Given the description of an element on the screen output the (x, y) to click on. 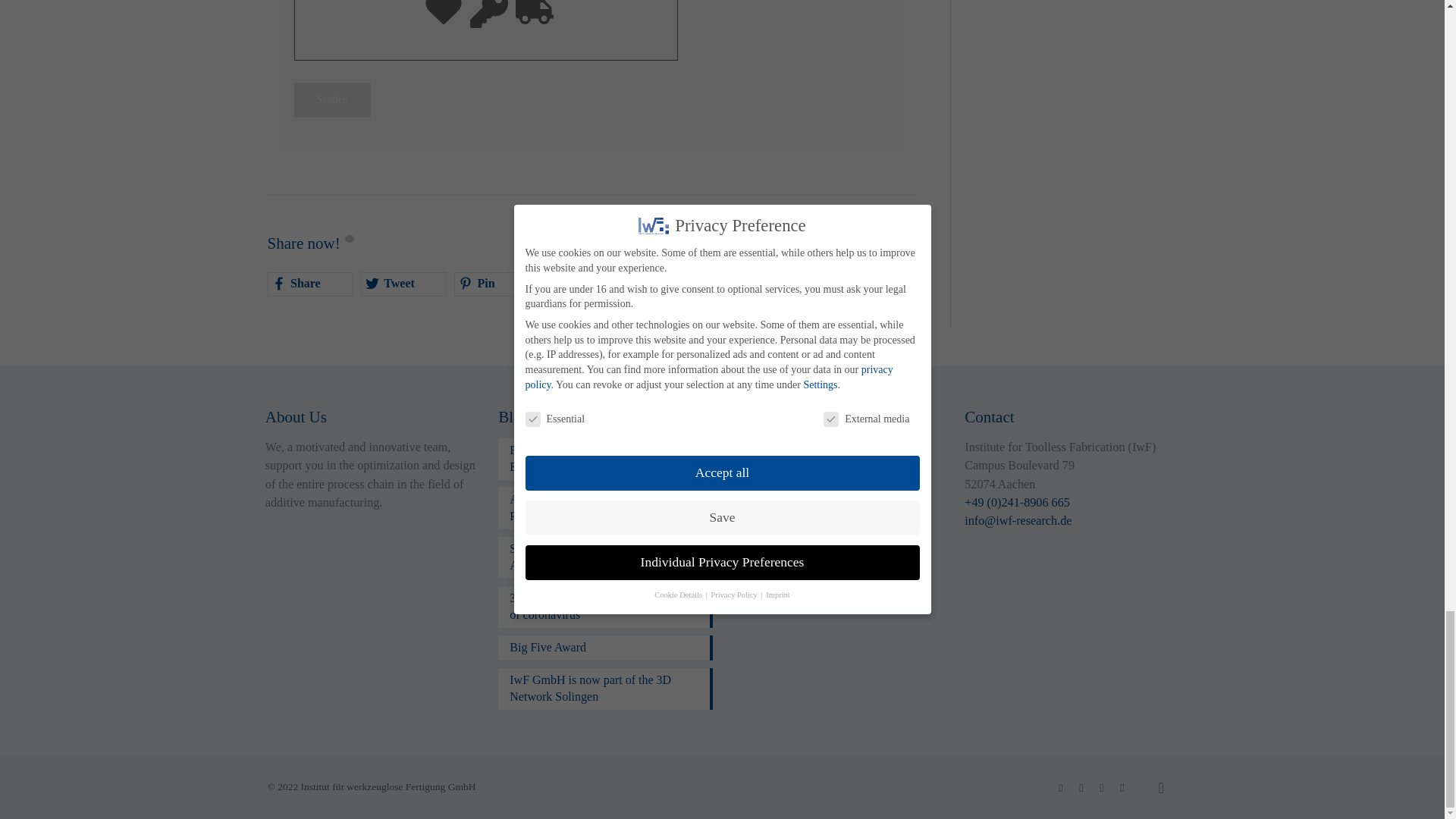
Senden (332, 99)
